Given the description of an element on the screen output the (x, y) to click on. 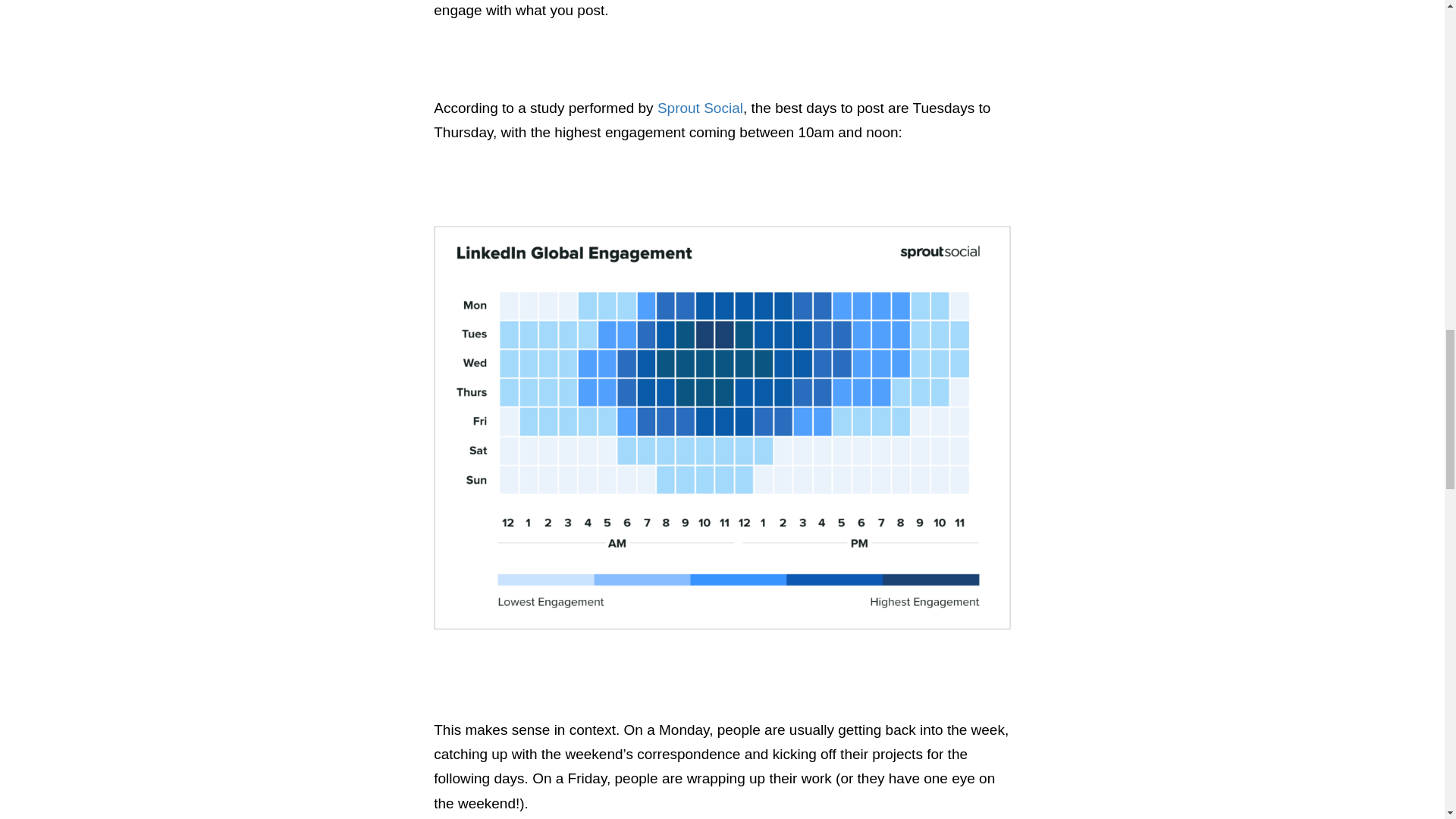
Sprout Social (700, 107)
